Given the description of an element on the screen output the (x, y) to click on. 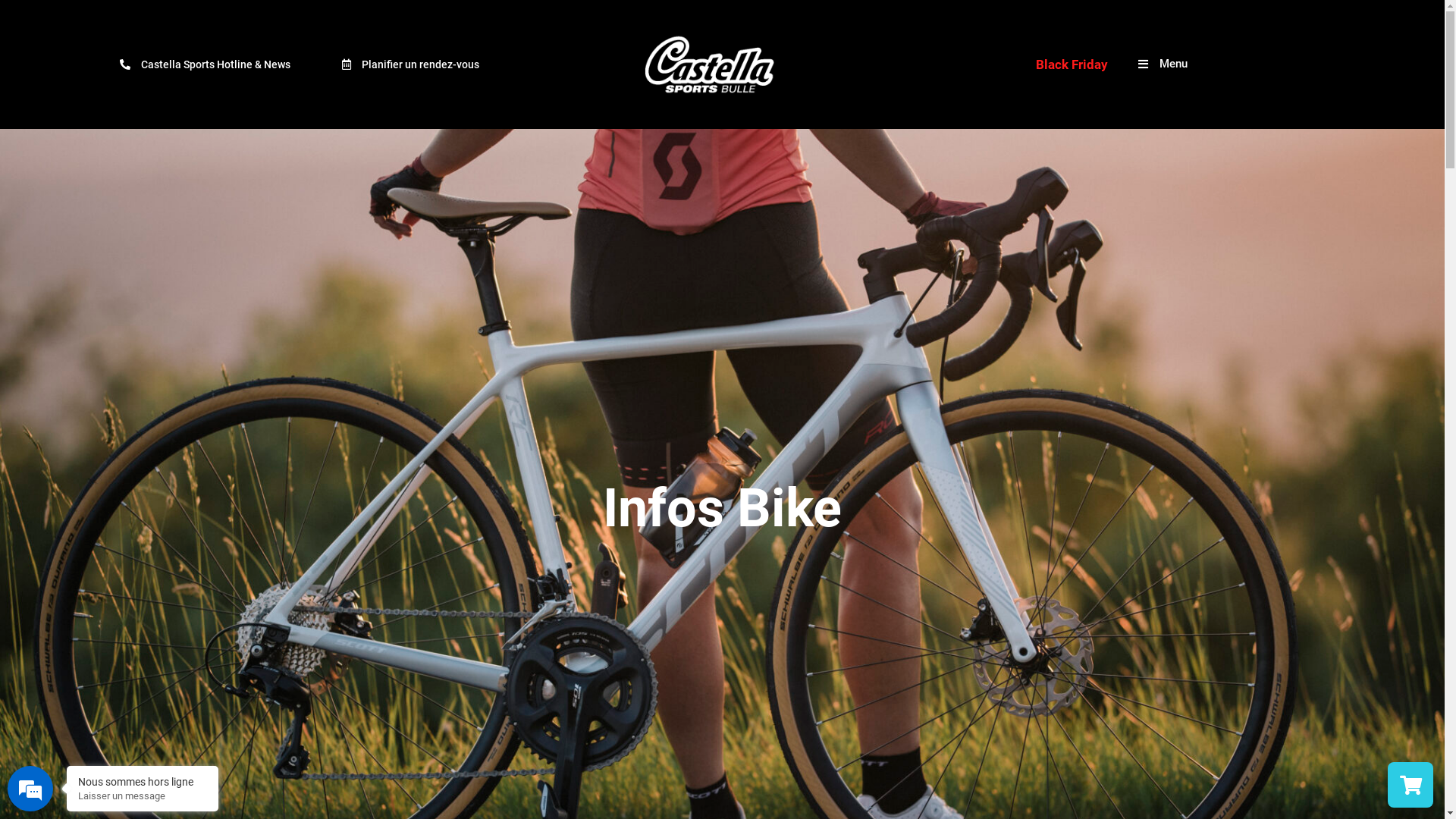
Black Friday Element type: text (1071, 63)
Menu Element type: text (1162, 64)
Castella Sports Hotline & News Element type: text (204, 64)
Planifier un rendez-vous Element type: text (410, 64)
